Given the description of an element on the screen output the (x, y) to click on. 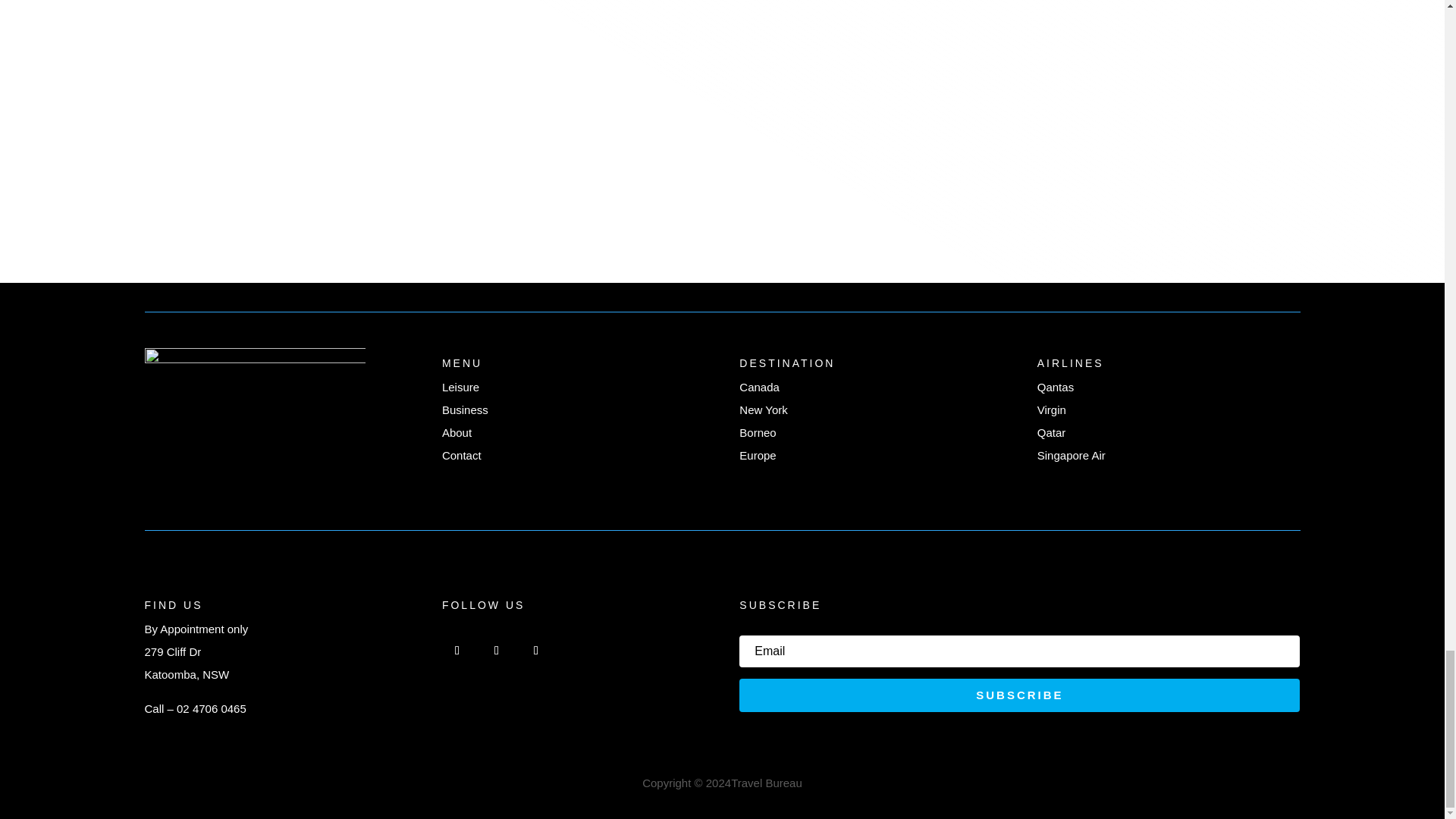
SUBSCRIBE (1019, 694)
Leisure (460, 386)
Follow on Youtube (536, 650)
About (456, 431)
Business (464, 409)
New York (763, 409)
Follow on Instagram (496, 650)
Borneo (757, 431)
Contact (461, 454)
Follow on Facebook (456, 650)
